Given the description of an element on the screen output the (x, y) to click on. 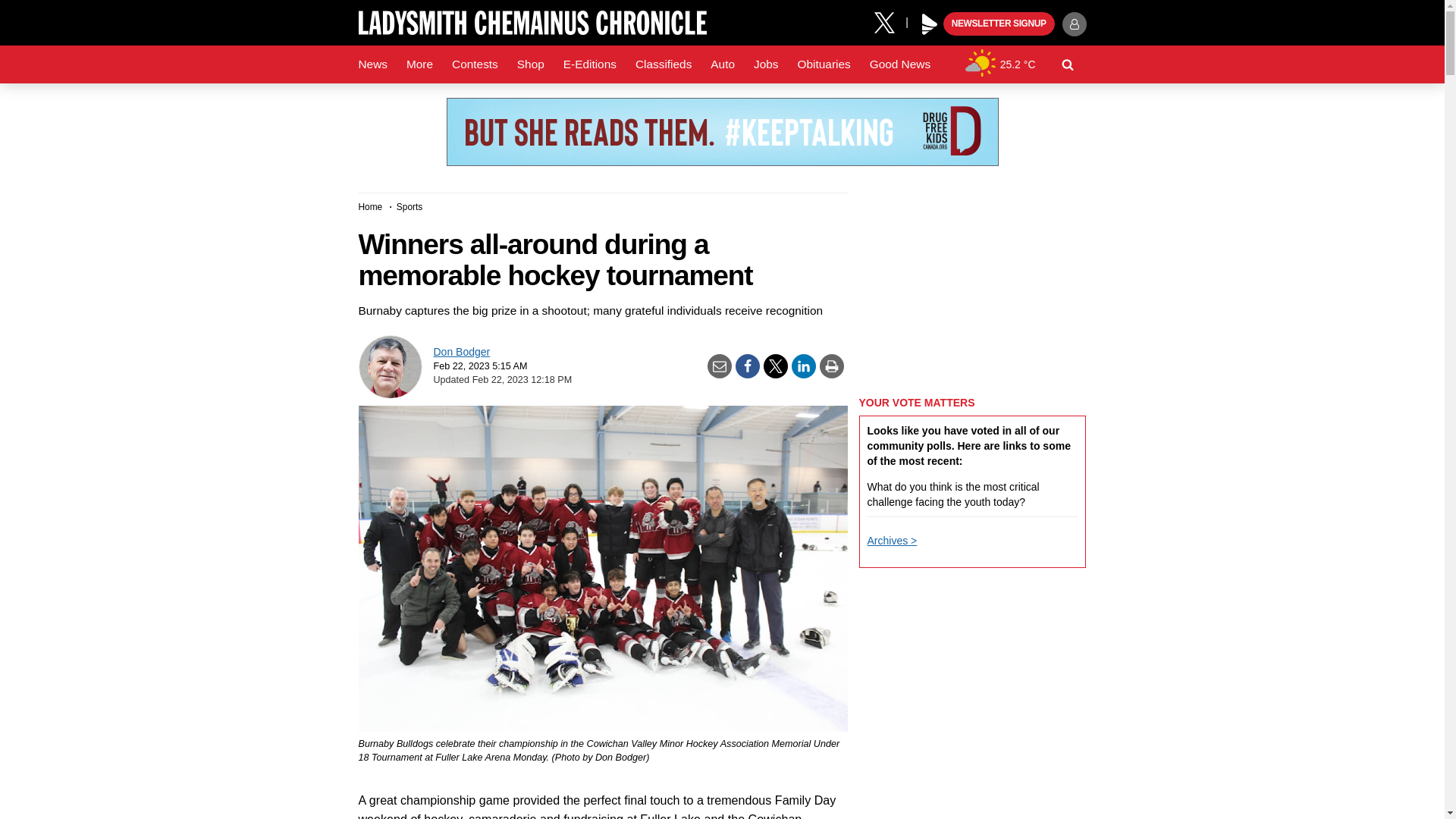
News (372, 64)
3rd party ad content (721, 131)
Play (929, 24)
X (889, 21)
Black Press Media (929, 24)
NEWSLETTER SIGNUP (998, 24)
